Given the description of an element on the screen output the (x, y) to click on. 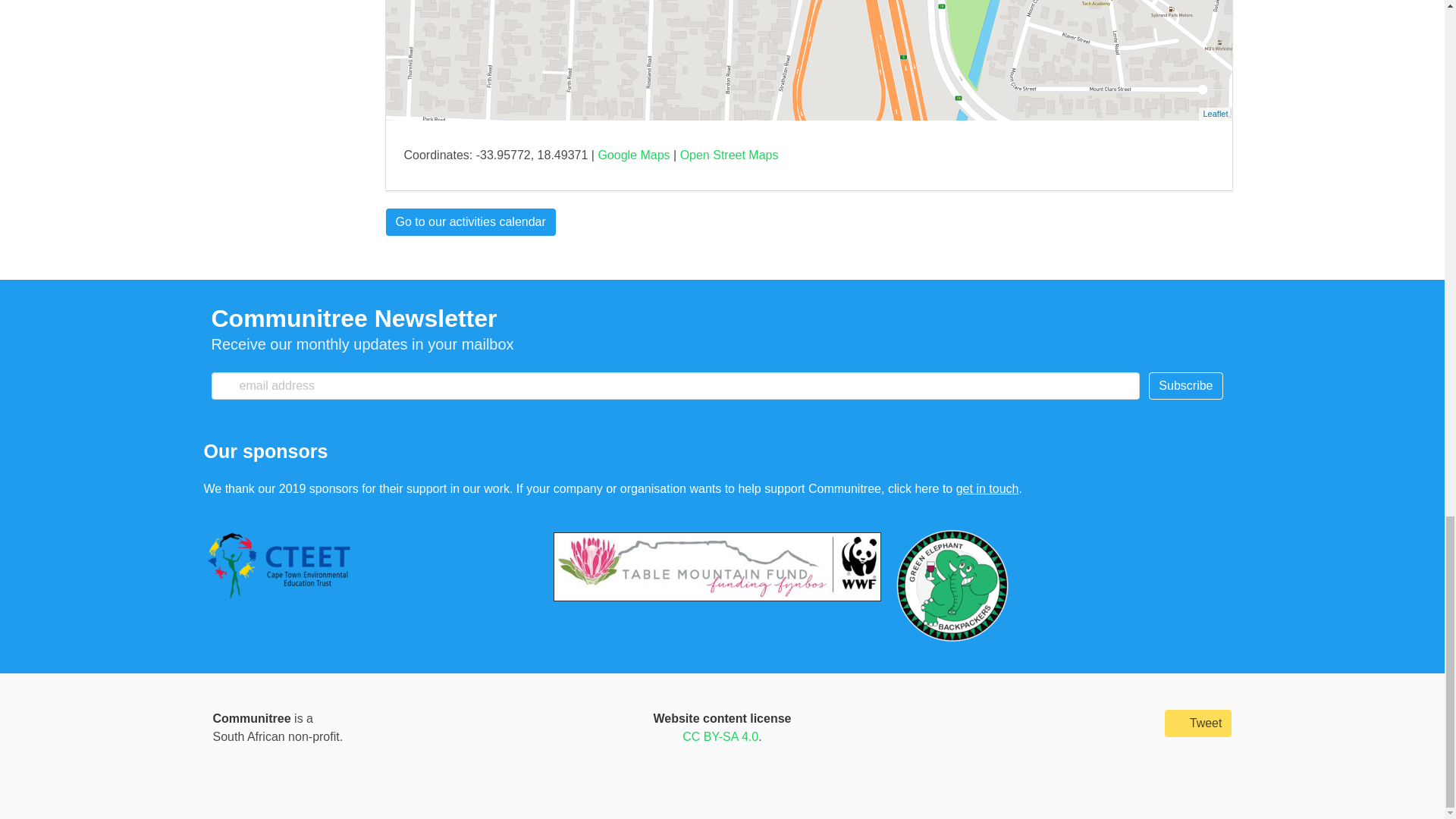
Subscribe (1185, 385)
A JS library for interactive maps (1214, 112)
